Given the description of an element on the screen output the (x, y) to click on. 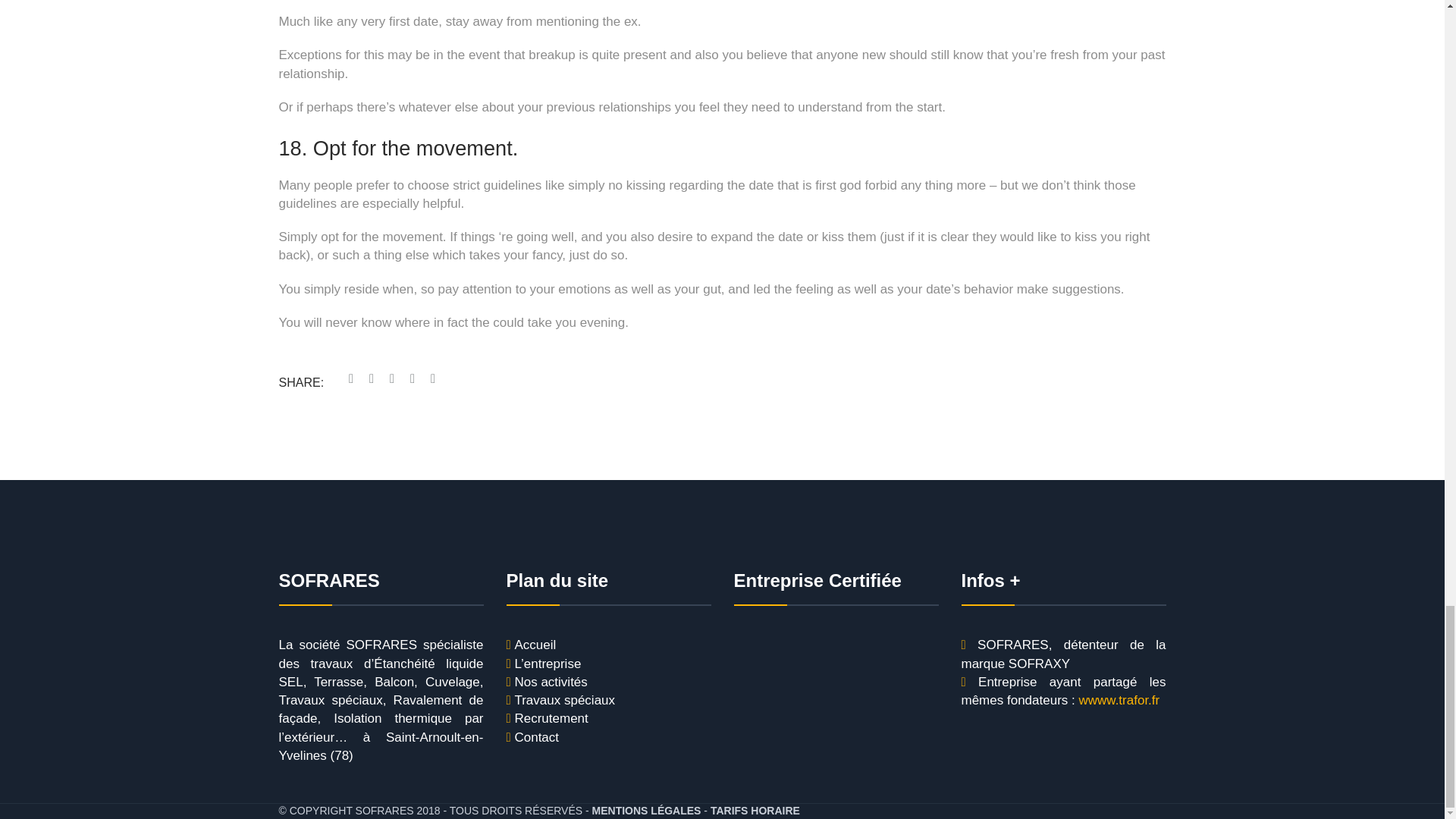
Contact (536, 737)
wwww.trafor.fr (1118, 700)
Recrutement (550, 719)
Accueil (534, 645)
